Given the description of an element on the screen output the (x, y) to click on. 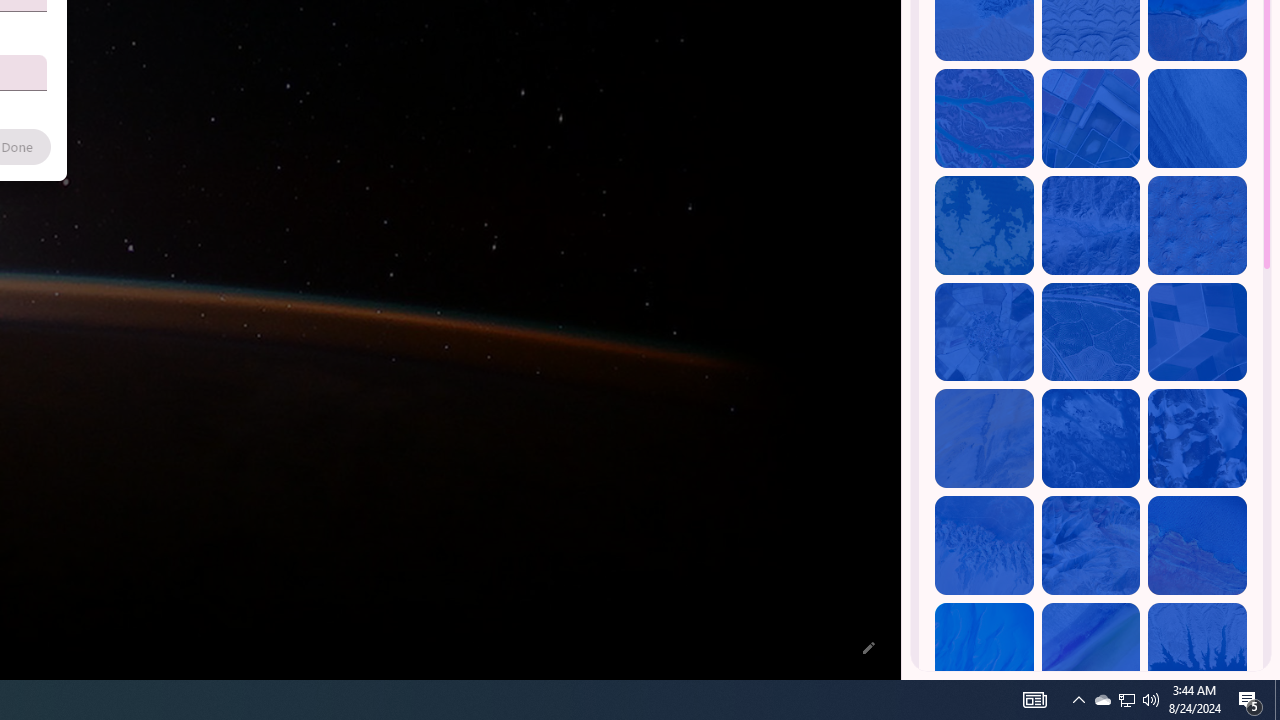
Dekese, DR Congo (984, 225)
Utrera, Spain (1197, 332)
Rikaze, China (1090, 225)
Iceland (1197, 119)
Antarctica (1197, 438)
